Given the description of an element on the screen output the (x, y) to click on. 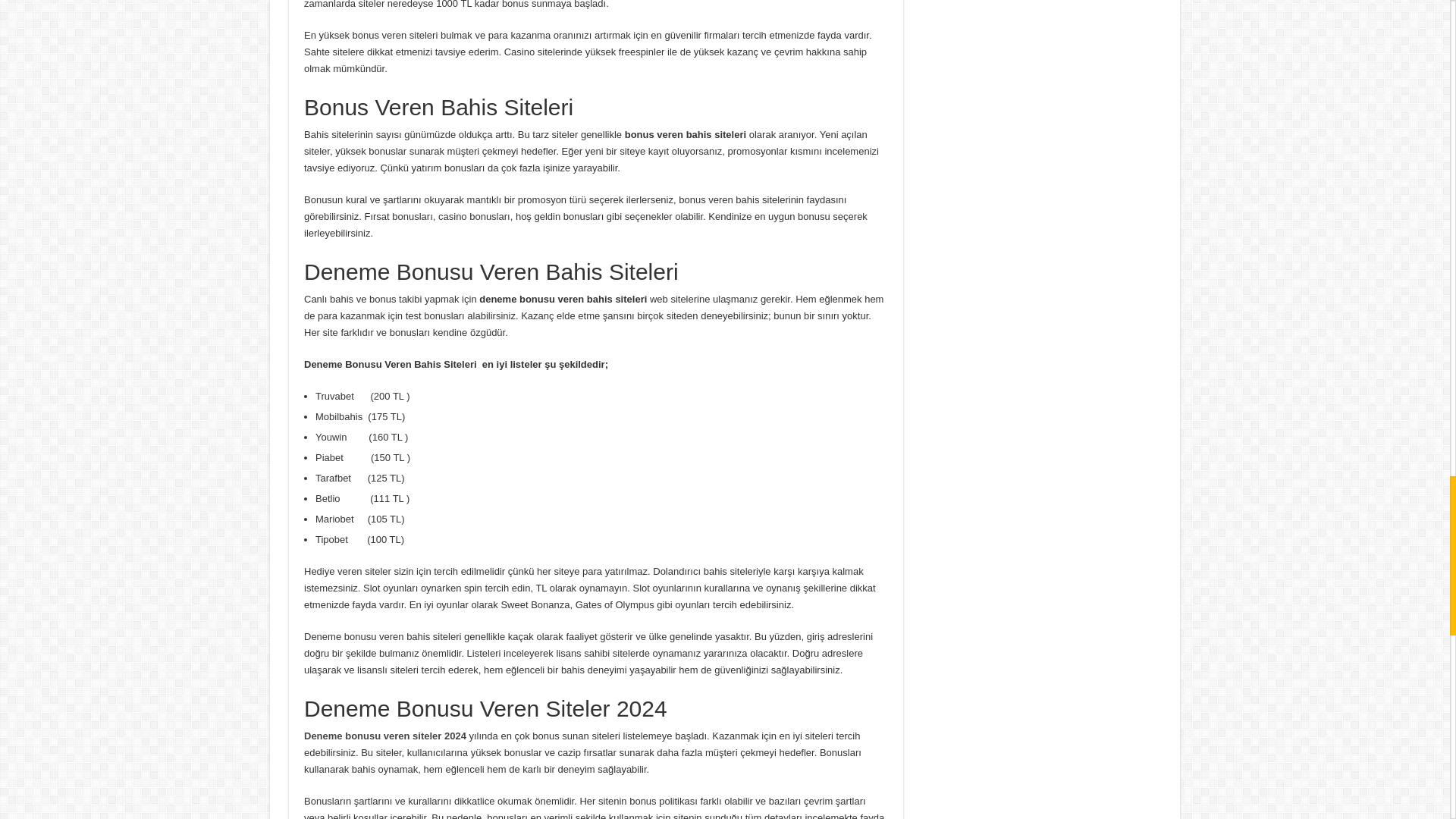
Deneme bonusu veren siteler 2024 (384, 735)
